Given the description of an element on the screen output the (x, y) to click on. 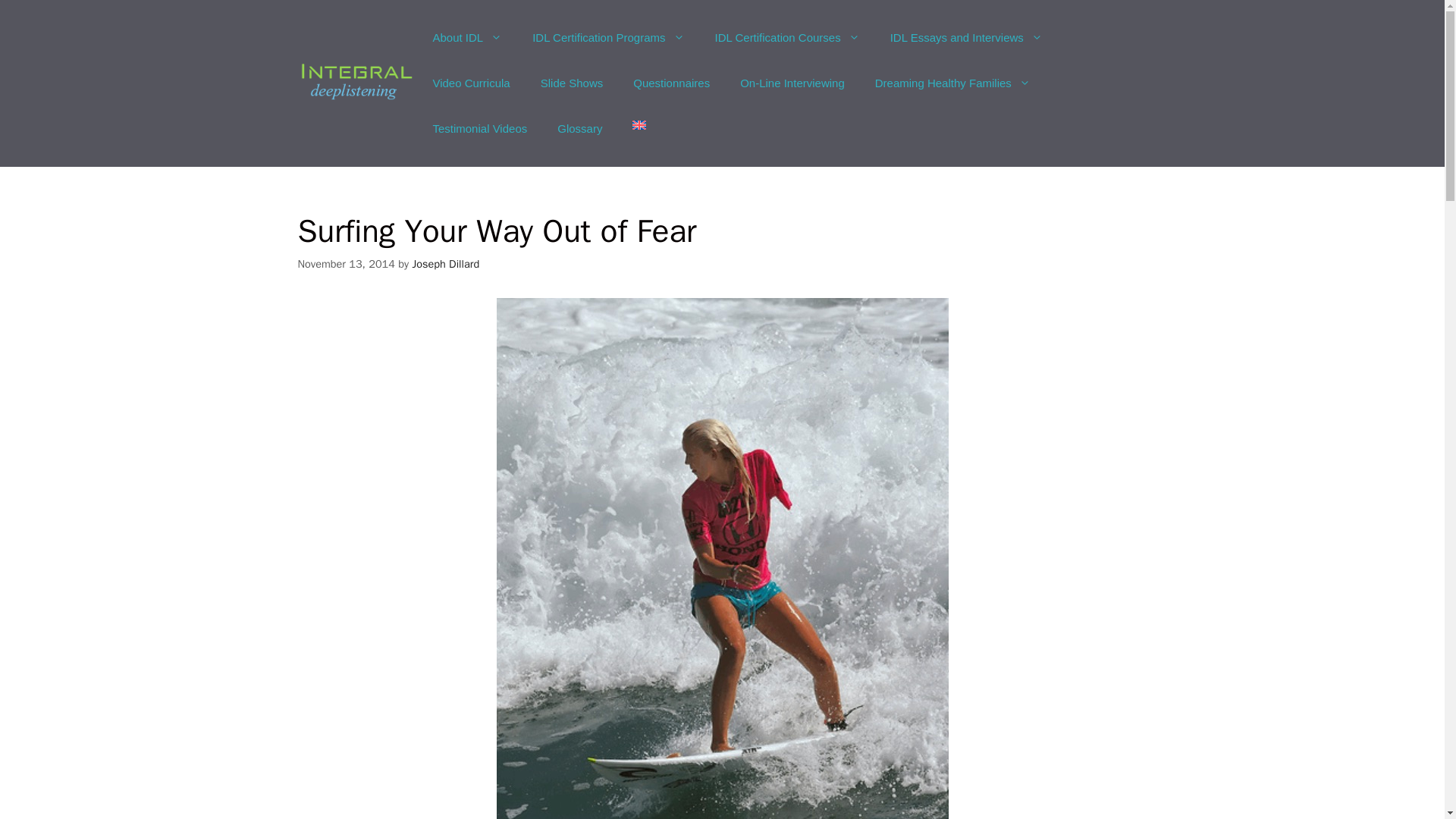
View all posts by Joseph Dillard (445, 264)
About IDL (466, 37)
IDL Certification Programs (607, 37)
IDL Certification Courses (786, 37)
